Given the description of an element on the screen output the (x, y) to click on. 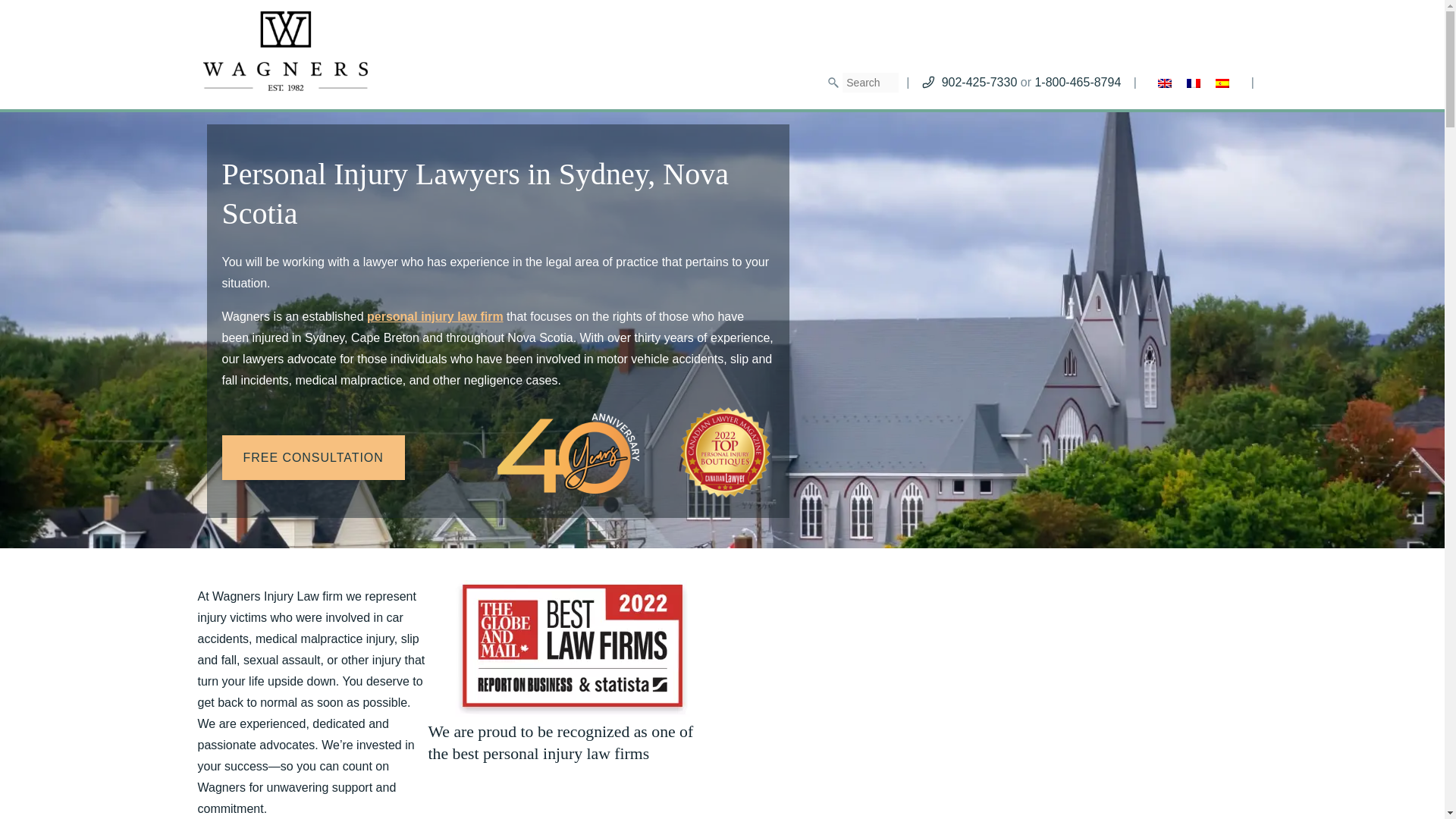
FREE CONSULTATION (312, 456)
personal injury law firm (434, 316)
Search (18, 7)
902-425-7330 (979, 82)
1-800-465-8794 (1077, 82)
